Given the description of an element on the screen output the (x, y) to click on. 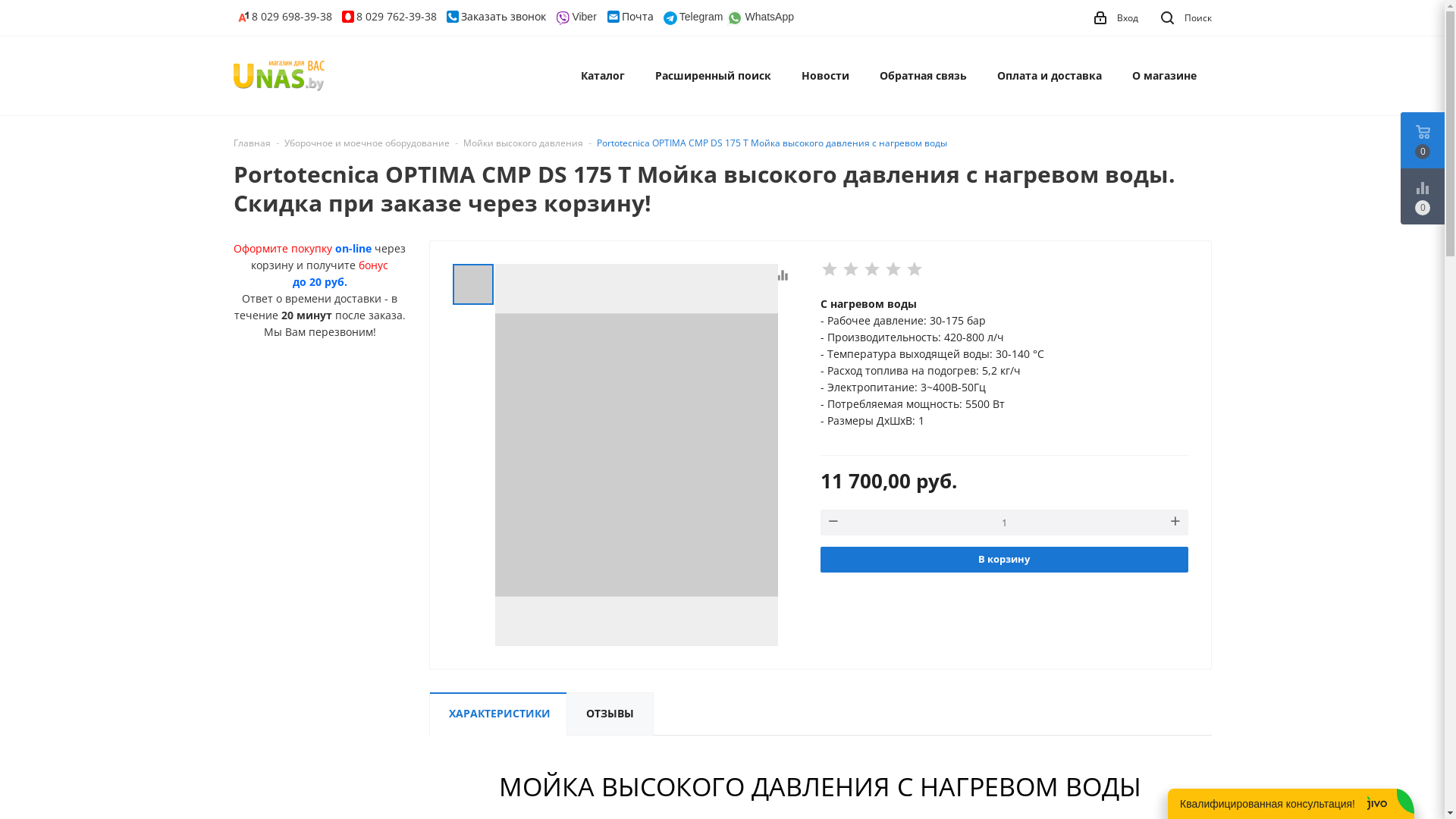
8 029 762-39-38 Element type: text (389, 16)
WhatsApp Element type: text (760, 16)
8 029 698-39-38 Element type: text (284, 16)
Telegram Element type: text (693, 16)
Viber Element type: text (575, 16)
